Given the description of an element on the screen output the (x, y) to click on. 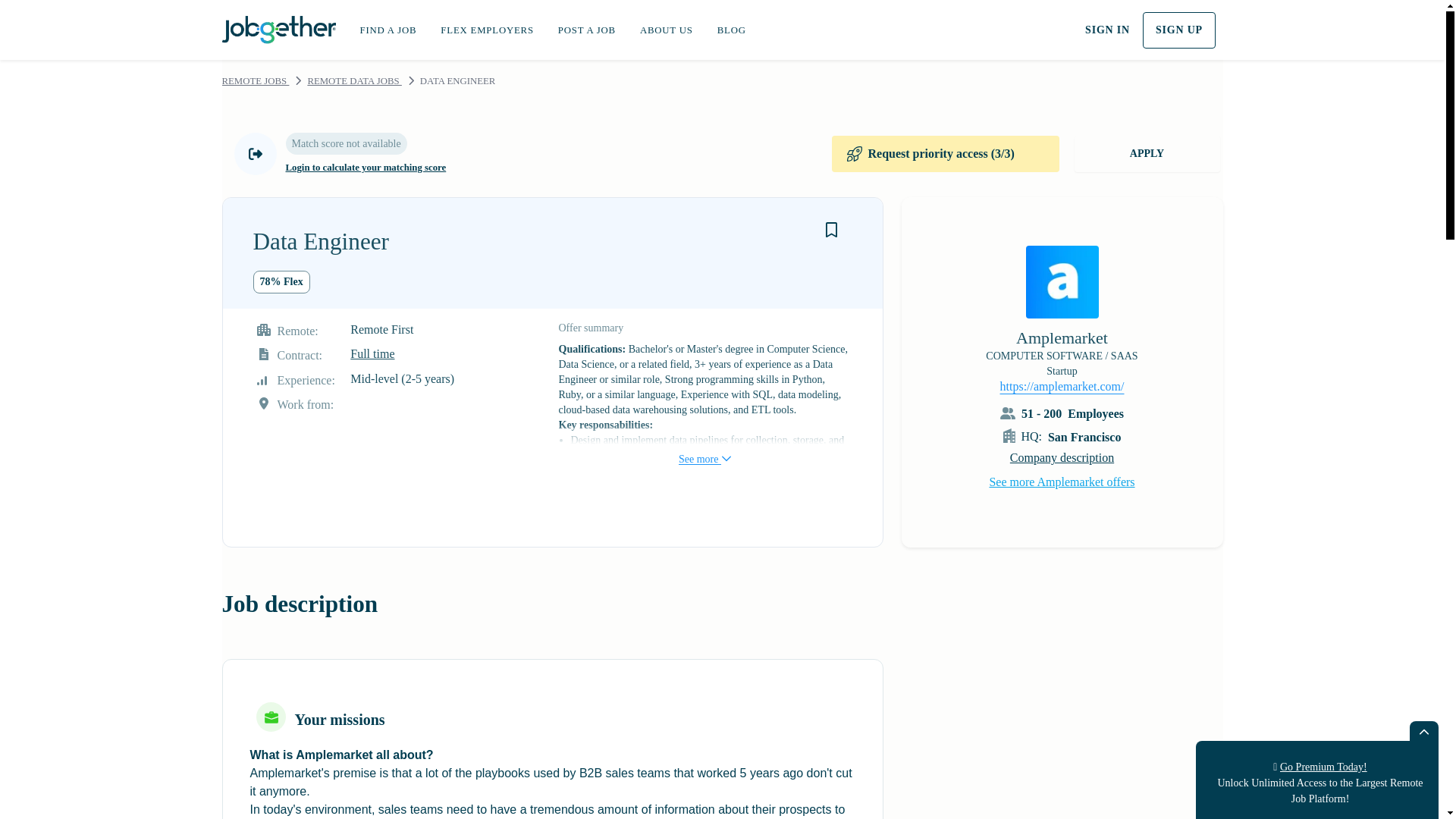
BLOG (731, 29)
APPLY (1147, 153)
ABOUT US (666, 29)
Company description (1061, 456)
See more (704, 443)
Full time (372, 353)
Return to home page (277, 27)
Login to calculate your matching score (365, 167)
REMOTE DATA JOBS (354, 81)
POST A JOB (586, 29)
FIND A JOB (387, 29)
SIGN IN (1106, 30)
See more Amplemarket offers (1061, 480)
REMOTE JOBS REMOTE DATA JOBS DATA ENGINEER (722, 83)
REMOTE JOBS (254, 81)
